Given the description of an element on the screen output the (x, y) to click on. 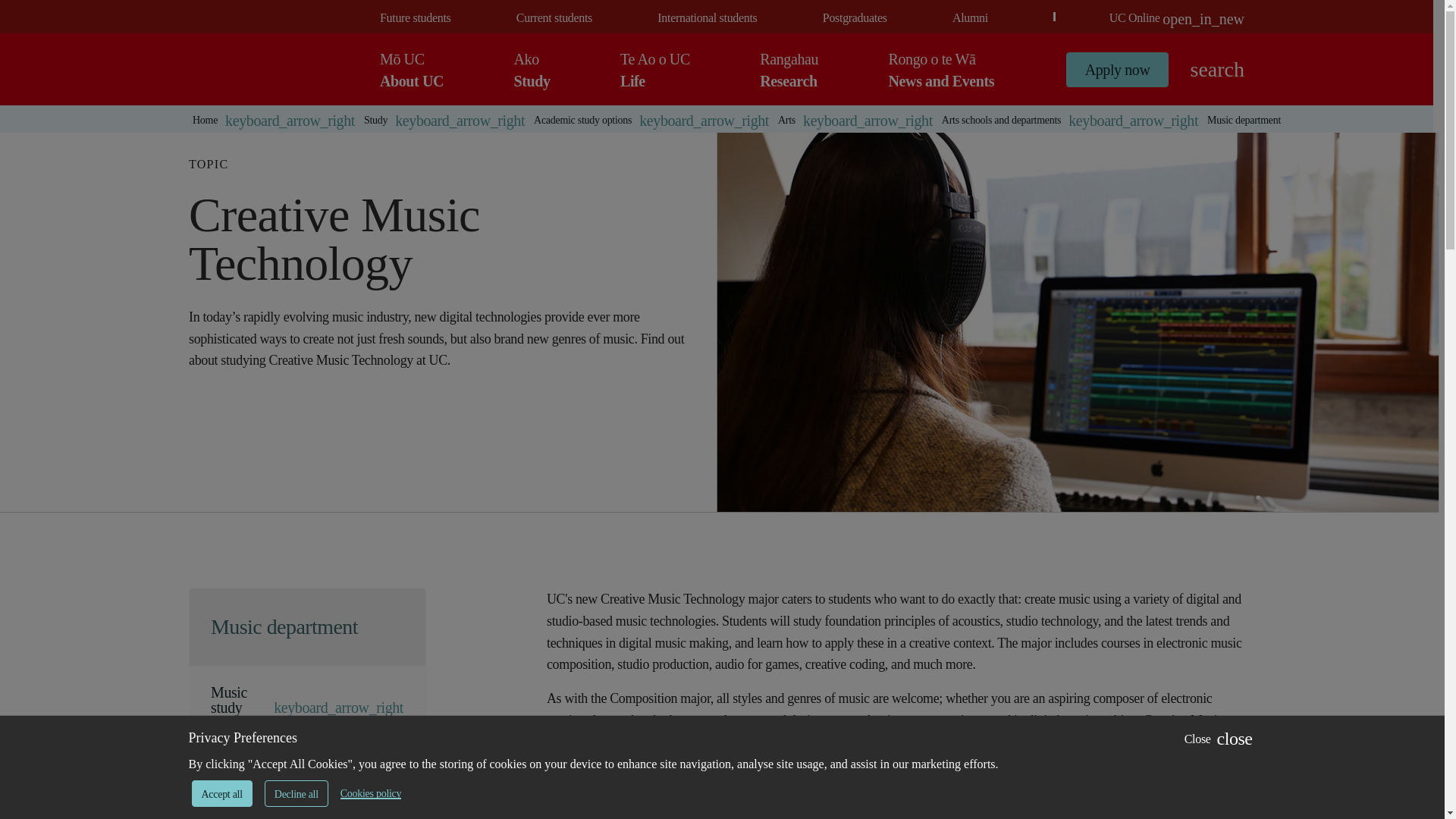
Future students (414, 17)
International students (707, 17)
Alumni (970, 17)
Current students (531, 69)
Postgraduates (554, 17)
